Given the description of an element on the screen output the (x, y) to click on. 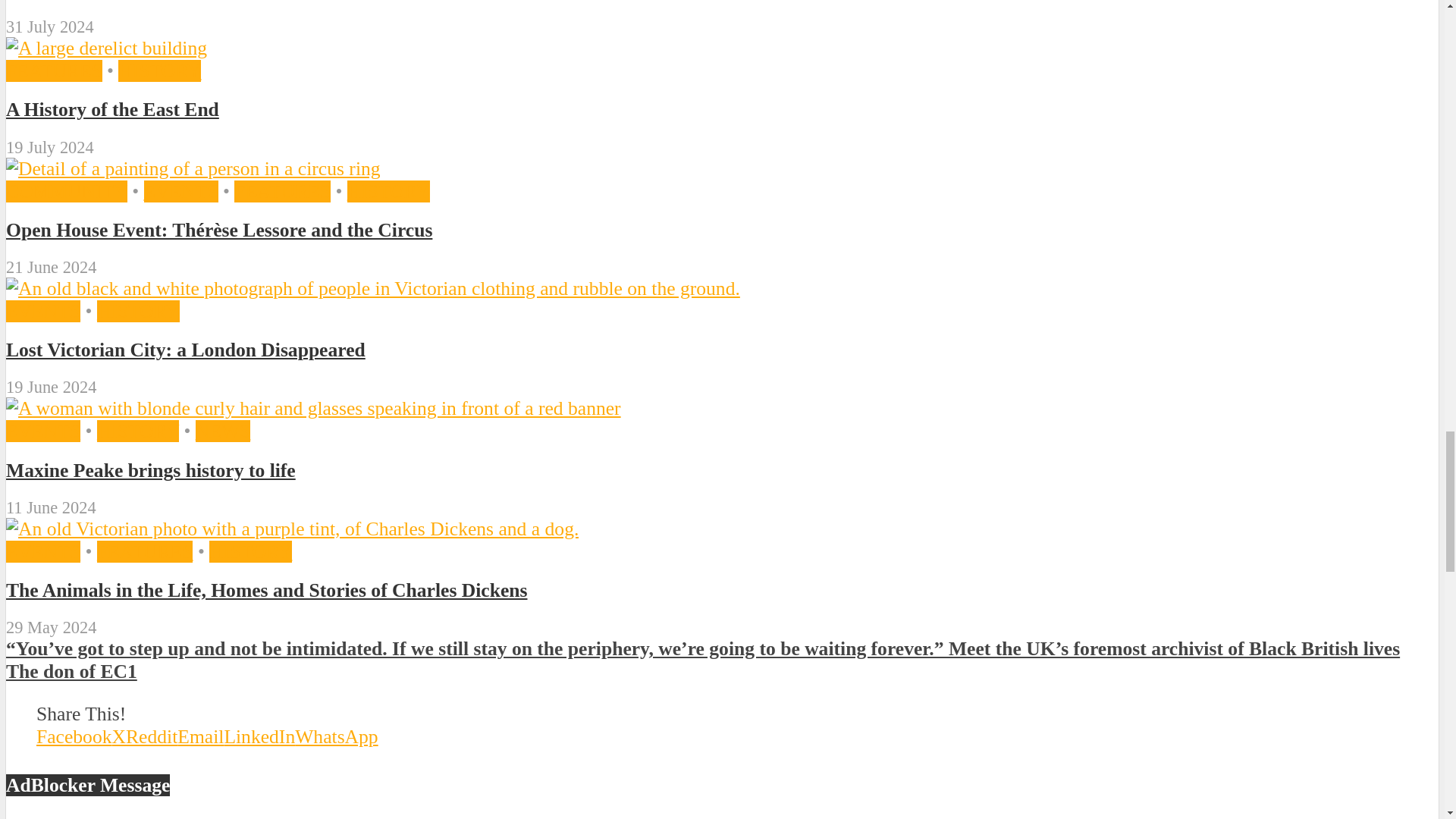
Maxine Peake brings history to life (313, 408)
Lost Victorian City: a London Disappeared (372, 288)
A History of the East End (105, 47)
